Given the description of an element on the screen output the (x, y) to click on. 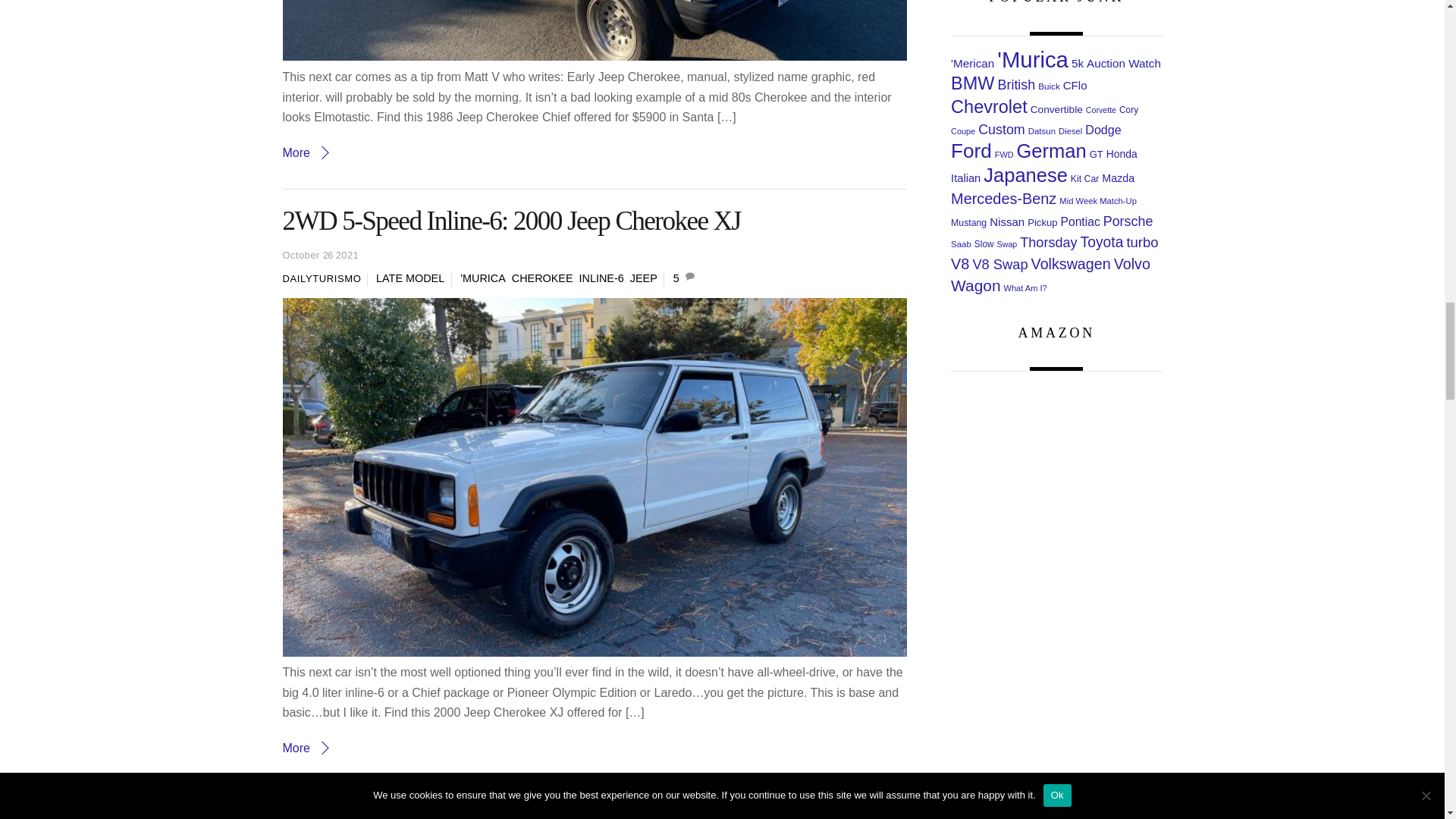
1-12 (594, 30)
